Given the description of an element on the screen output the (x, y) to click on. 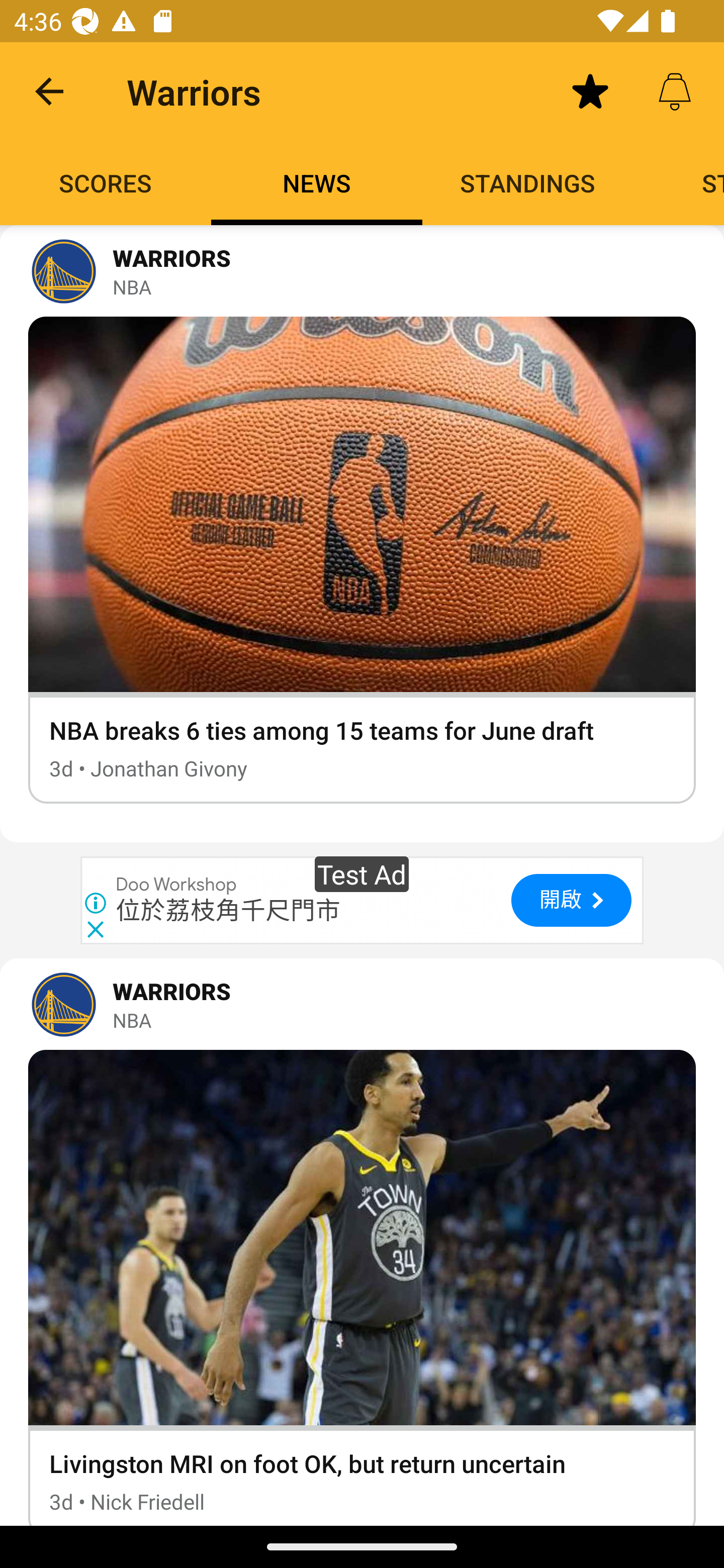
back.button (49, 90)
Favorite toggle (590, 90)
Alerts (674, 90)
Scores SCORES (105, 183)
Standings STANDINGS (527, 183)
WARRIORS NBA (362, 270)
Doo Workshop (176, 884)
開啟 (570, 899)
位於荔枝角千尺門市 (228, 910)
WARRIORS NBA (362, 1004)
